Given the description of an element on the screen output the (x, y) to click on. 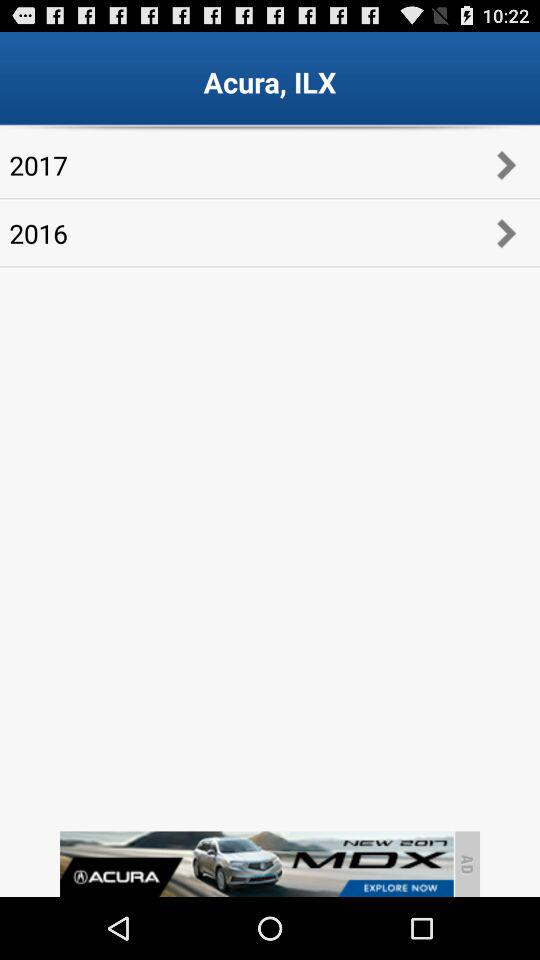
advertisement banner (256, 864)
